Given the description of an element on the screen output the (x, y) to click on. 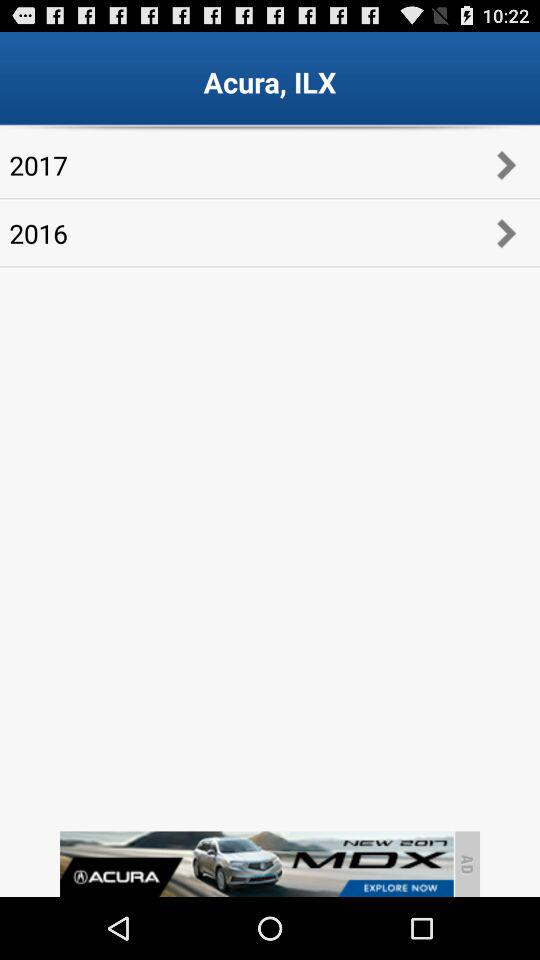
advertisement banner (256, 864)
